Given the description of an element on the screen output the (x, y) to click on. 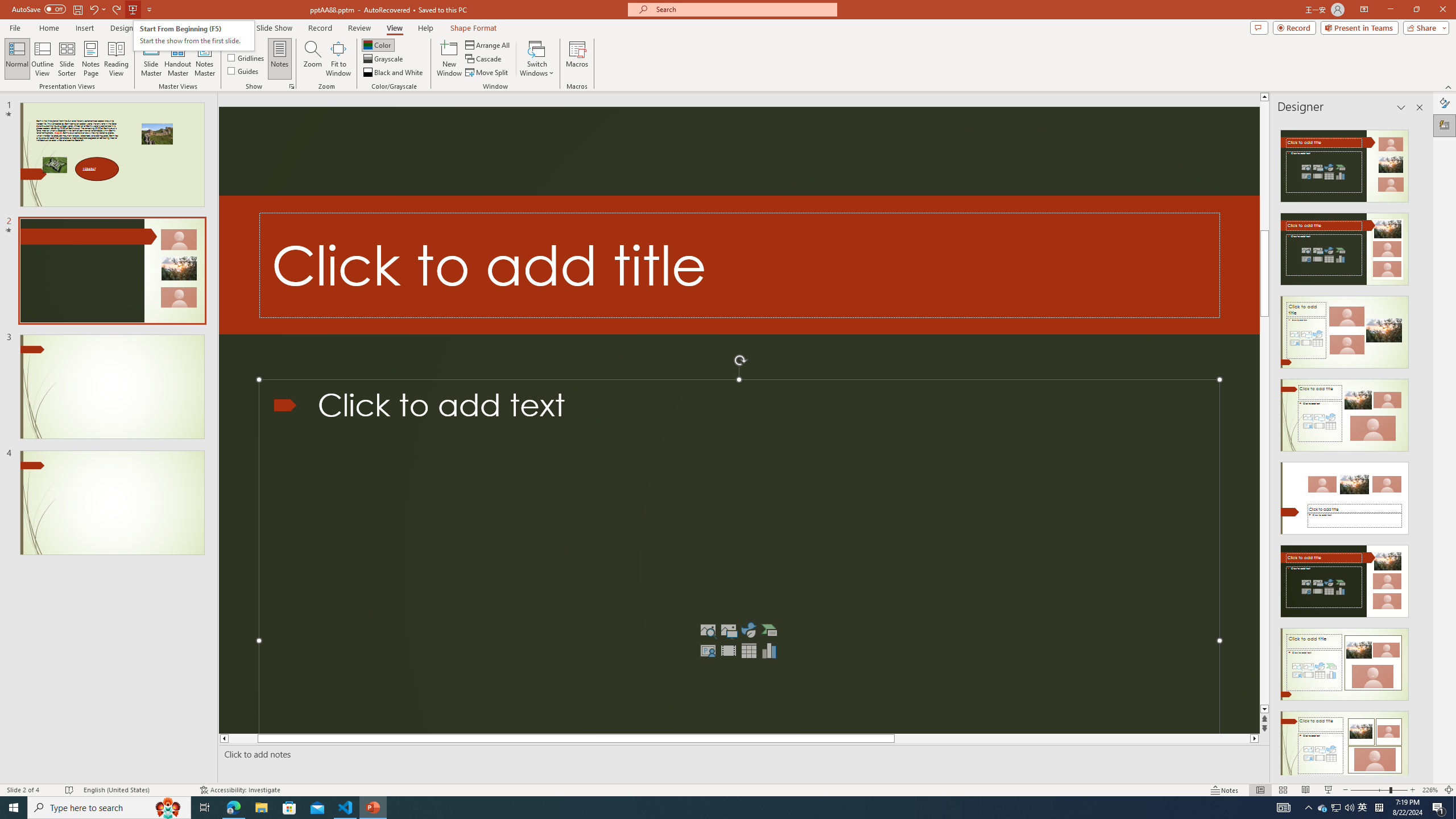
Zoom... (312, 58)
Cascade (484, 58)
Ruler (241, 44)
Black and White (393, 72)
